Given the description of an element on the screen output the (x, y) to click on. 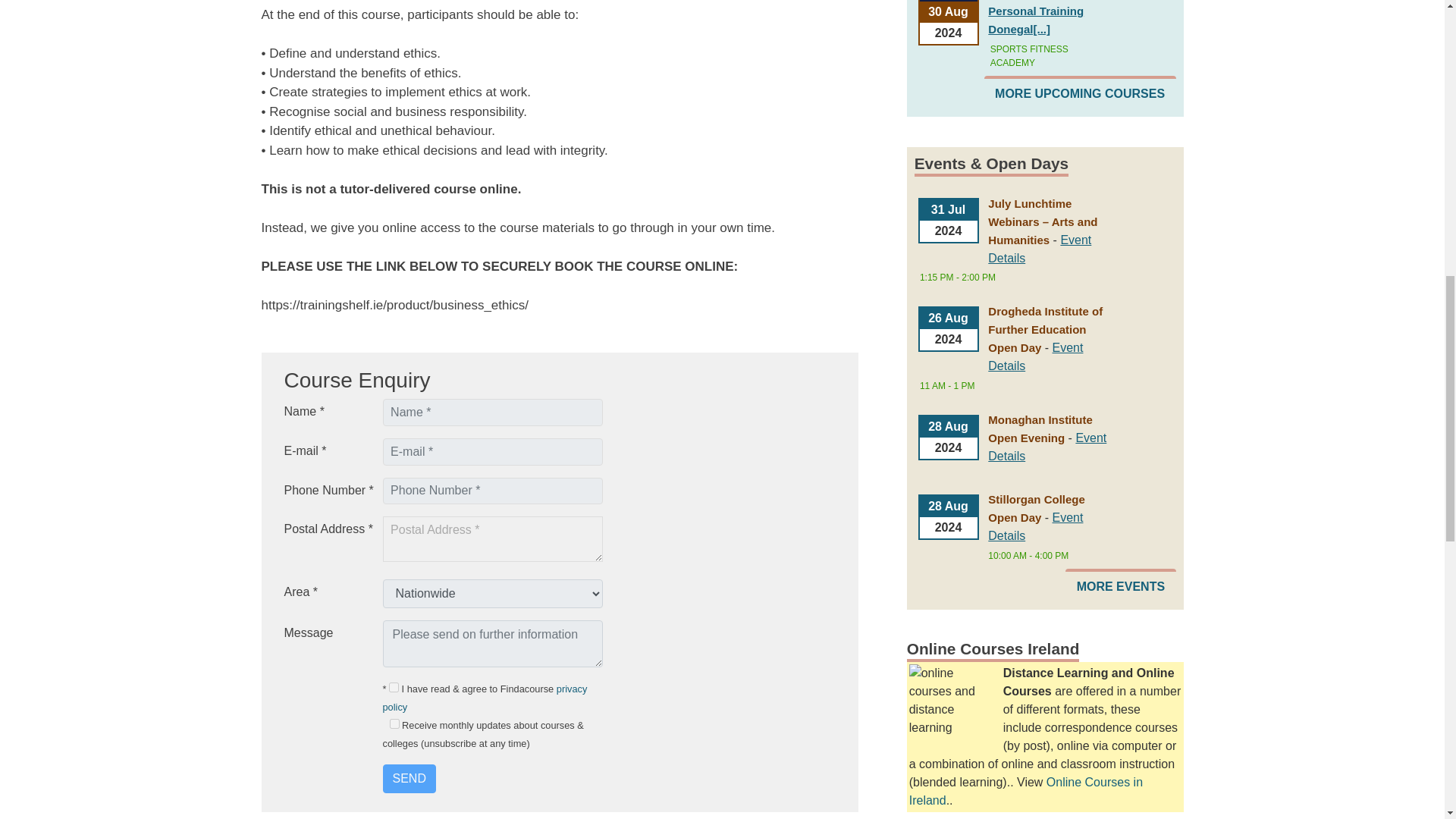
SEND (408, 778)
privacy policy (483, 697)
on (393, 687)
on (394, 723)
